Given the description of an element on the screen output the (x, y) to click on. 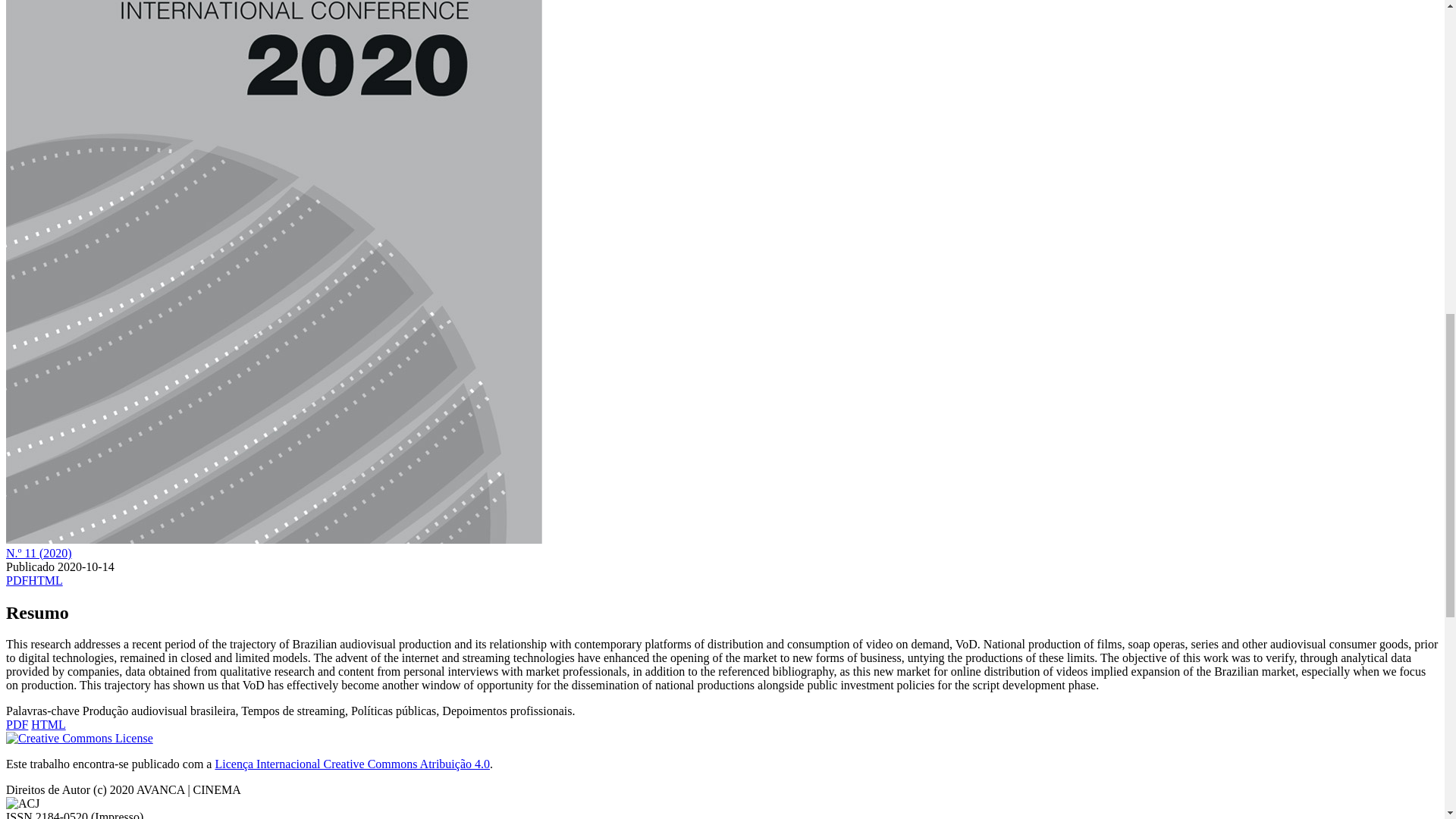
HTML (47, 724)
PDF (16, 580)
PDF (16, 724)
HTML (44, 580)
